Given the description of an element on the screen output the (x, y) to click on. 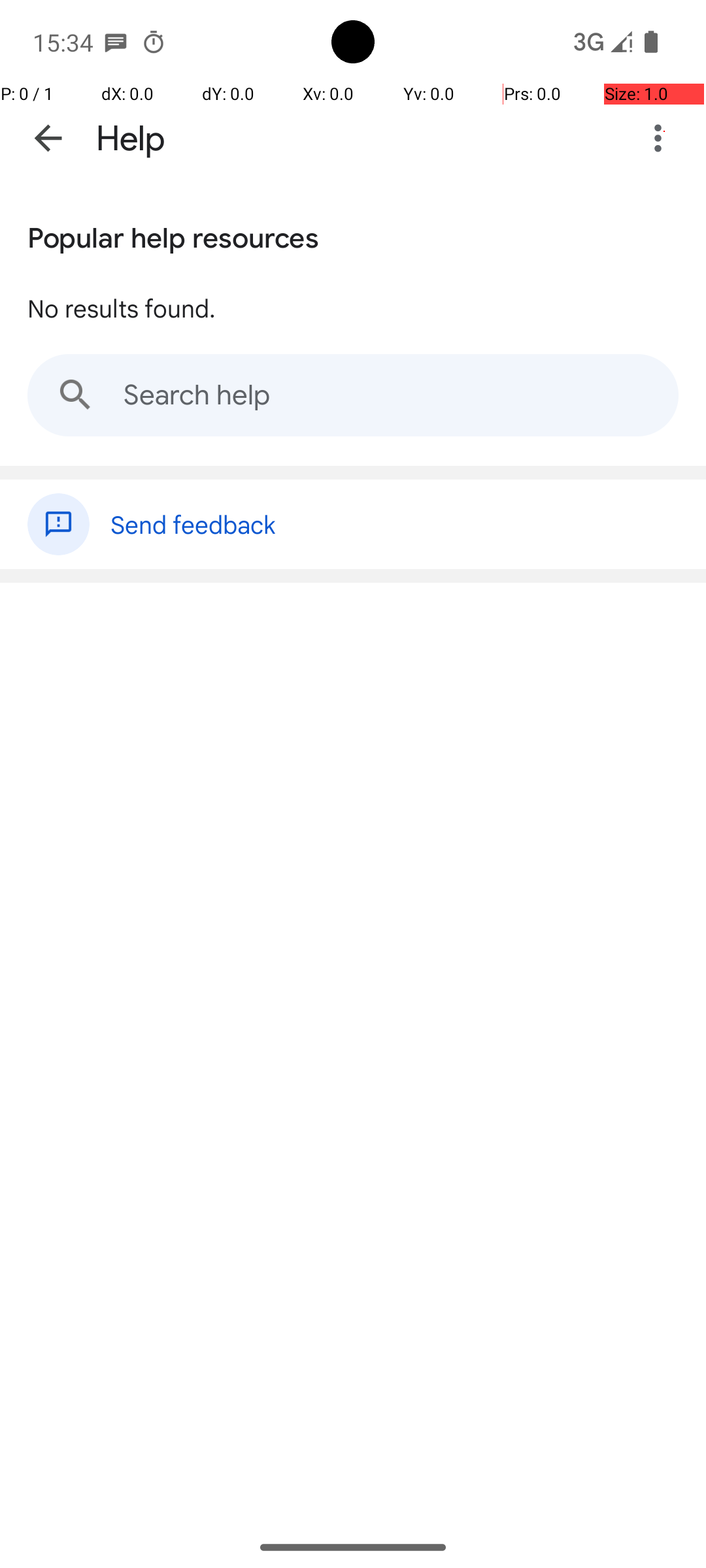
Popular help resources Element type: android.widget.TextView (173, 235)
Search help Element type: androidx.cardview.widget.CardView (352, 395)
No results found. Element type: android.widget.TextView (121, 307)
